Given the description of an element on the screen output the (x, y) to click on. 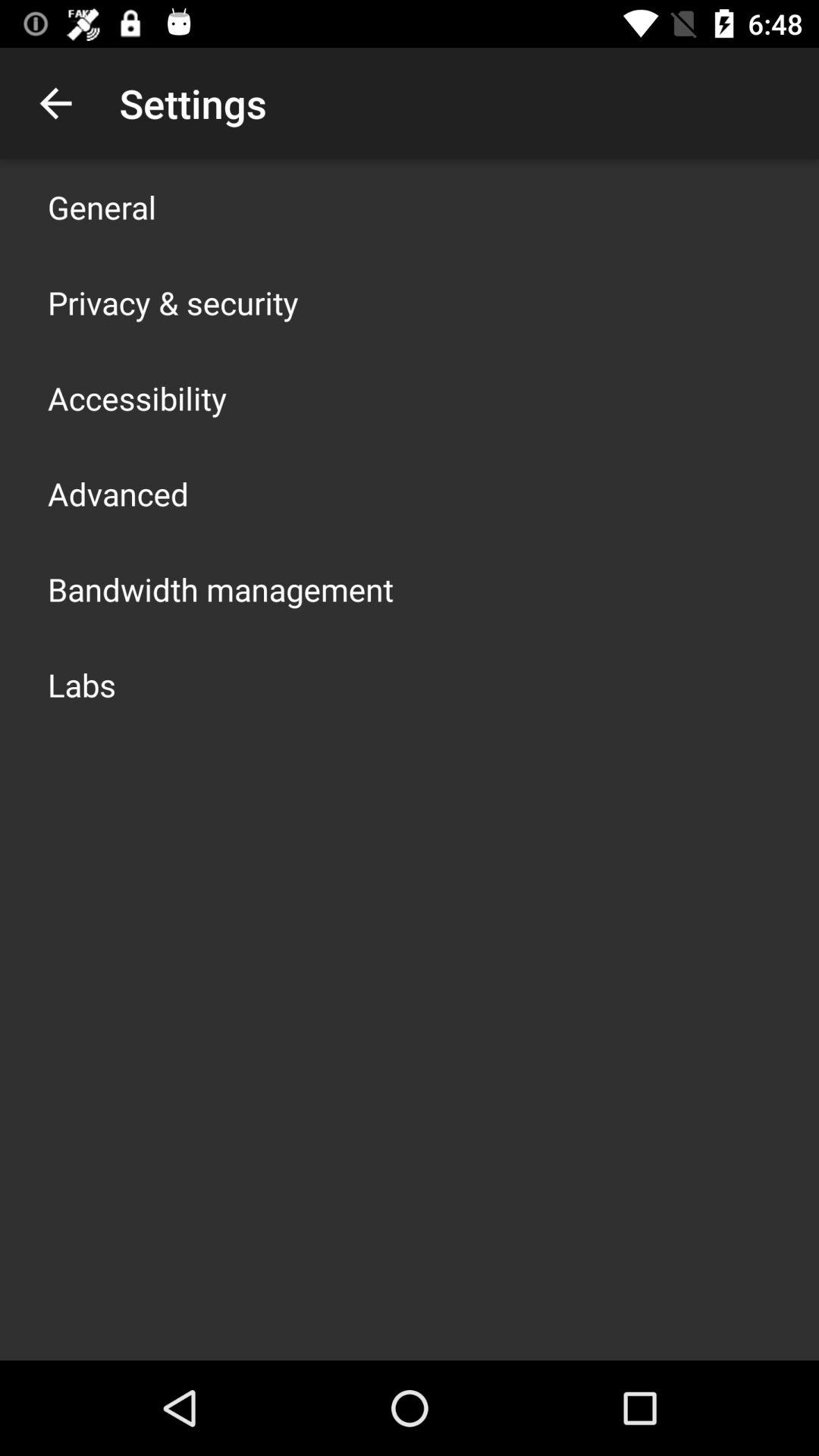
press icon above the advanced (136, 397)
